Given the description of an element on the screen output the (x, y) to click on. 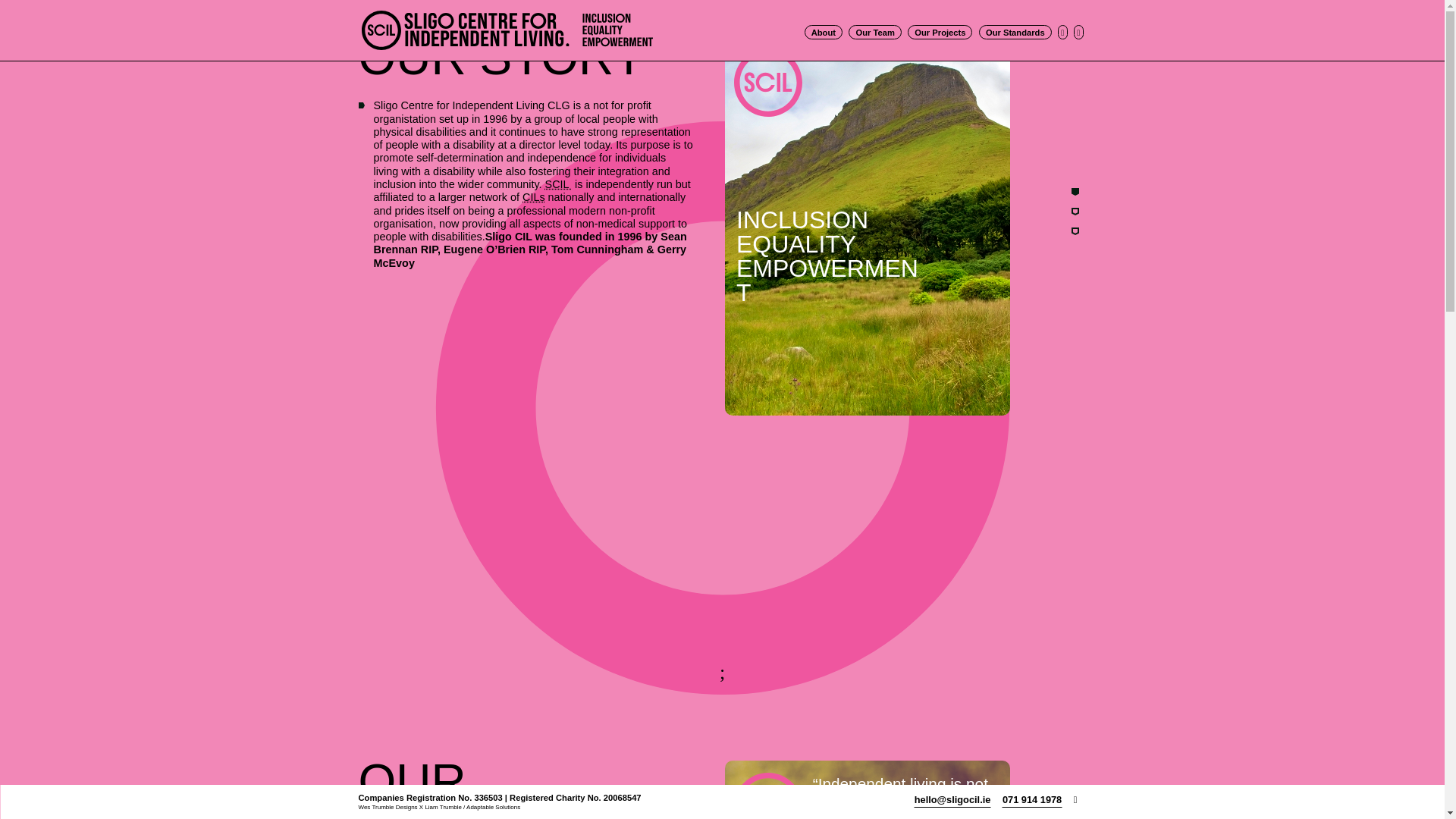
Centres for Independent Livings (533, 196)
Sligo Centre for Independent Living (558, 184)
Link to our philosophy page (1074, 211)
About (824, 32)
Our Standards (1014, 32)
Link to our values page (1074, 231)
Link to our story page (1074, 191)
Our Team (874, 32)
Our Projects (939, 32)
